Given the description of an element on the screen output the (x, y) to click on. 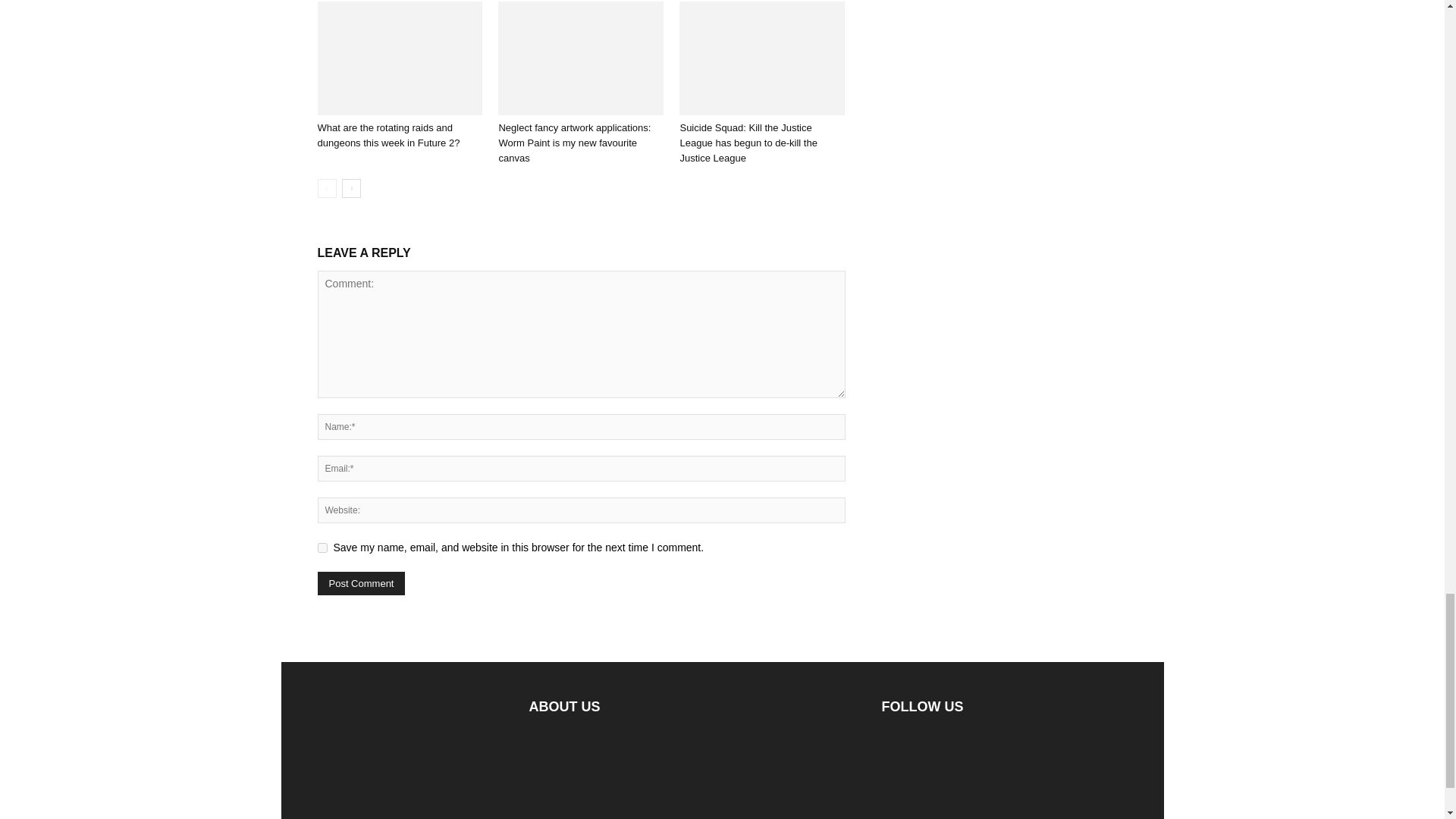
yes (321, 547)
Post Comment (360, 583)
